Given the description of an element on the screen output the (x, y) to click on. 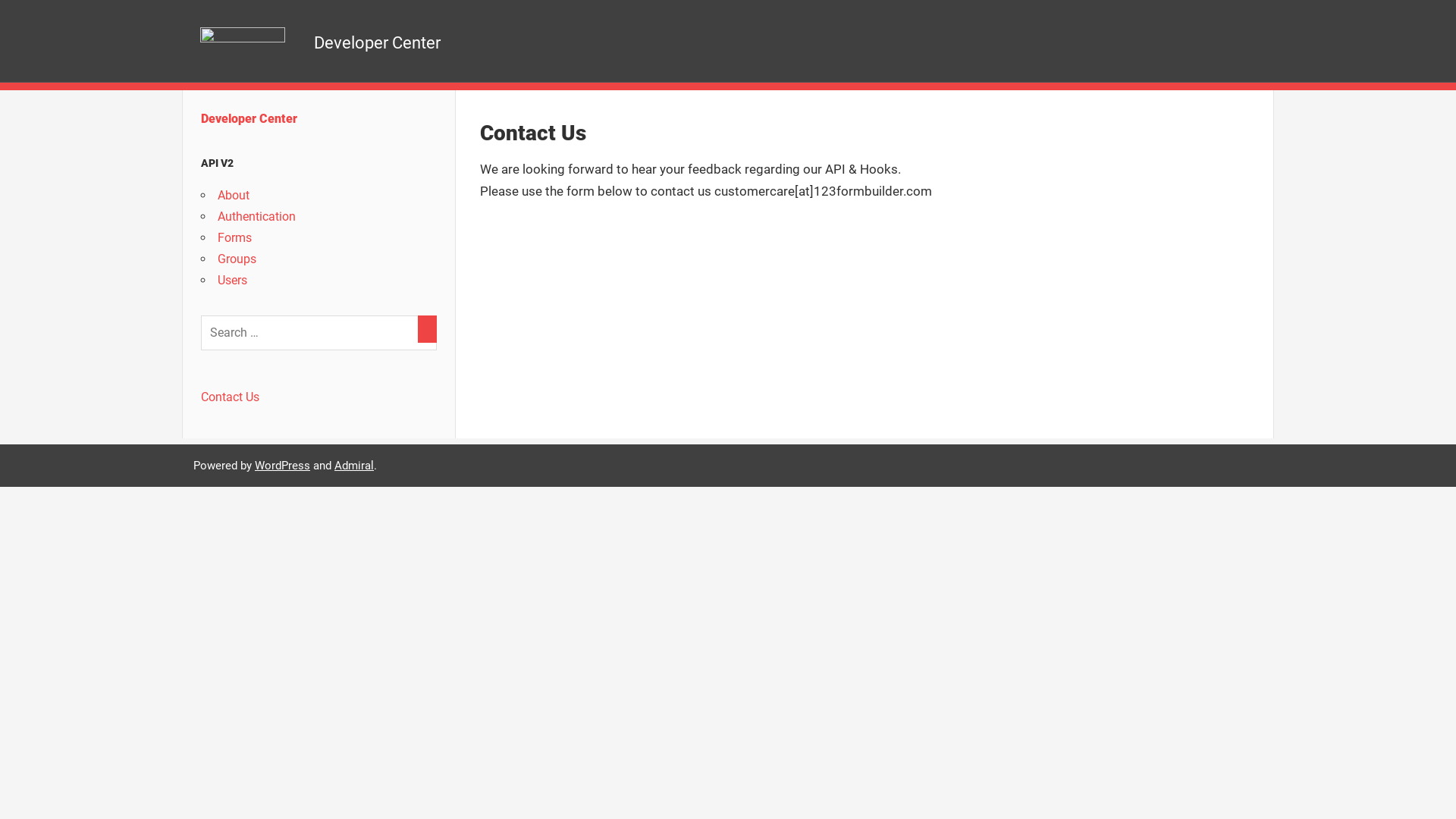
Admiral Element type: text (353, 464)
Users Element type: text (232, 280)
WordPress Element type: text (282, 464)
Skip to content Element type: text (0, 0)
Developer Center Element type: text (248, 118)
Forms Element type: text (234, 237)
About Element type: text (233, 195)
Authentication Element type: text (256, 216)
Contact Us Element type: text (229, 396)
Search for: Element type: hover (318, 332)
Groups Element type: text (236, 258)
